Given the description of an element on the screen output the (x, y) to click on. 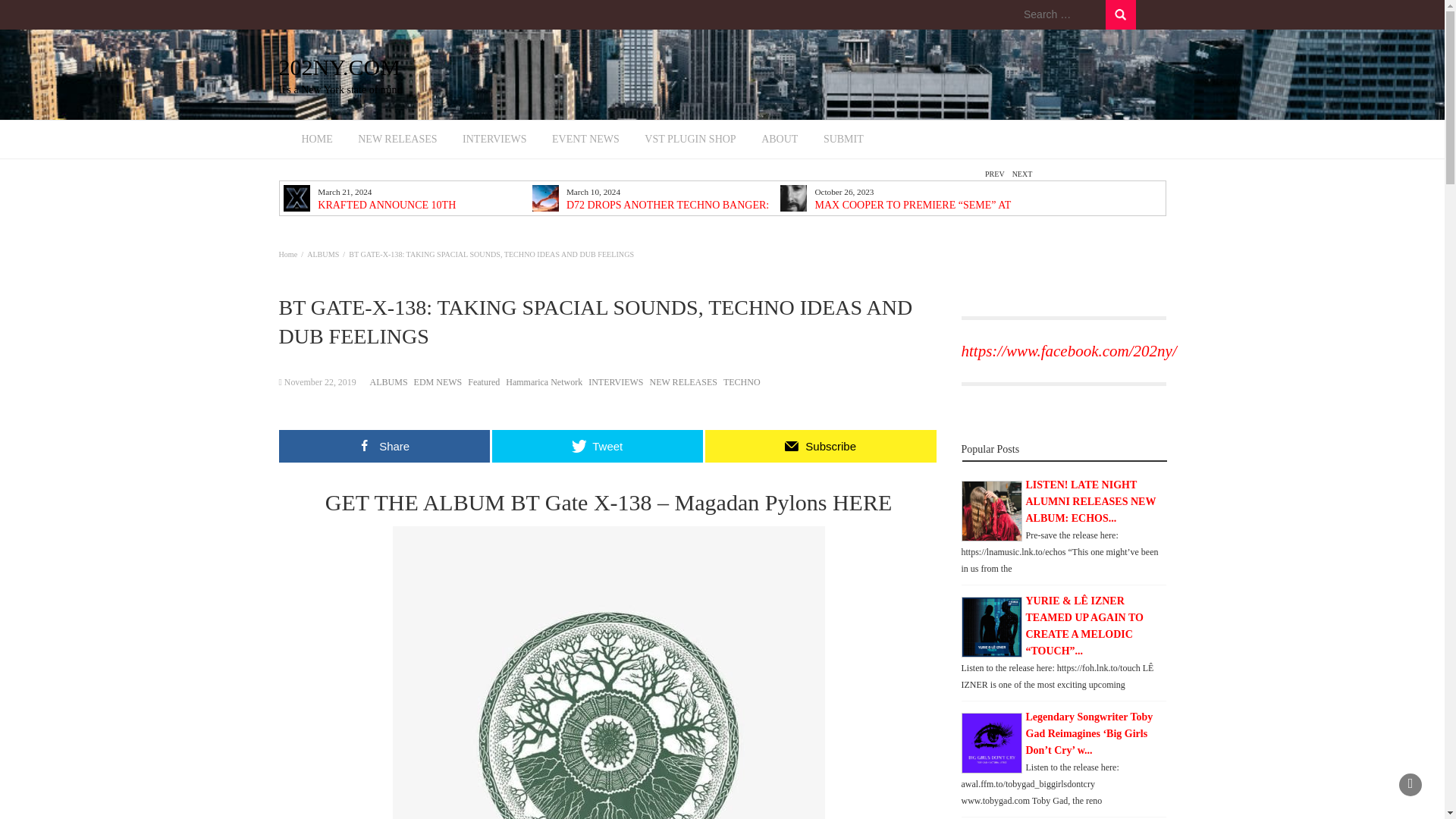
Search (1120, 14)
VST PLUGIN SHOP (689, 139)
Search (1120, 14)
November 22, 2019 (419, 74)
EVENT NEWS (319, 381)
NEW RELEASES (585, 139)
Search (397, 139)
Hammarica Network (1120, 14)
ABOUT (543, 381)
NEW RELEASES (779, 139)
HOME (397, 139)
Search for: (316, 139)
EVENT NEWS (1059, 14)
ABOUT (585, 139)
